Given the description of an element on the screen output the (x, y) to click on. 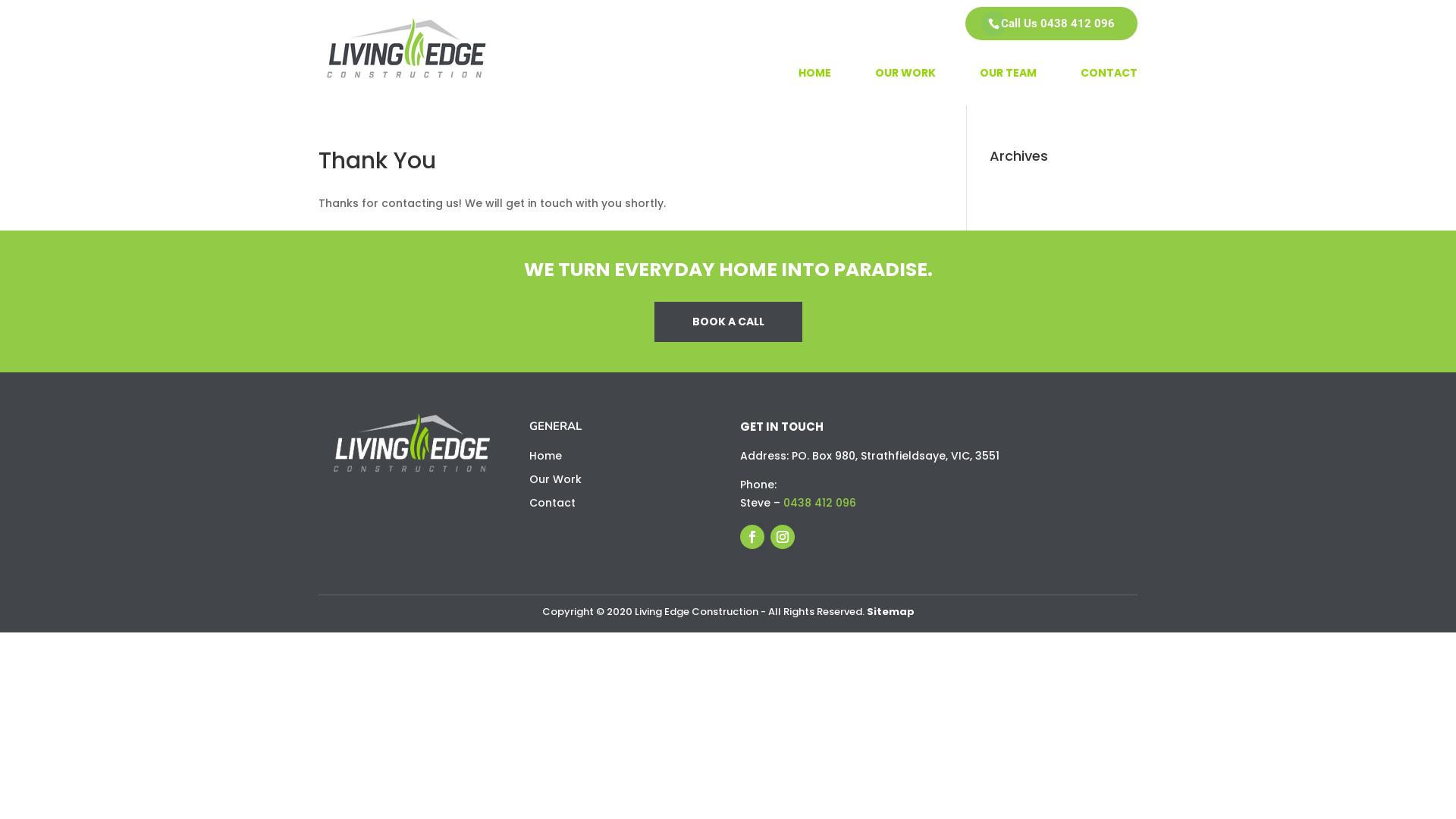
0438 412 096 Element type: text (1077, 23)
CONTACT Element type: text (1108, 86)
Home Element type: text (545, 455)
Sitemap Element type: text (889, 611)
FooterLogo Element type: hover (411, 442)
HOME Element type: text (814, 86)
OUR WORK Element type: text (905, 86)
Our Work Element type: text (555, 478)
Follow on Instagram Element type: hover (782, 536)
BOOK A CALL Element type: text (727, 321)
OUR TEAM Element type: text (1007, 86)
0438 412 096 Element type: text (818, 502)
Contact Element type: text (552, 502)
Follow on Facebook Element type: hover (752, 536)
